Given the description of an element on the screen output the (x, y) to click on. 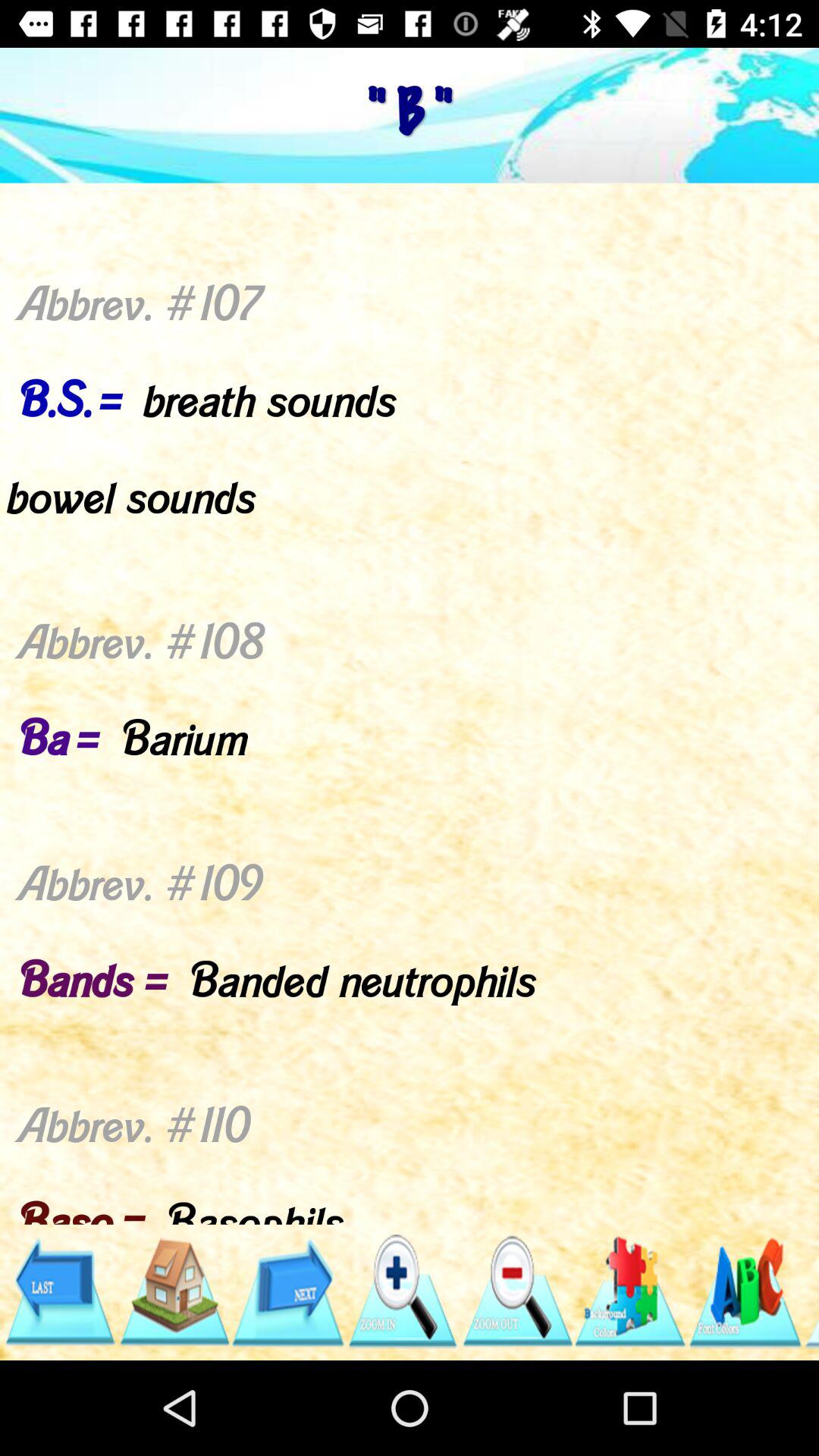
open the menu-item (745, 1291)
